Given the description of an element on the screen output the (x, y) to click on. 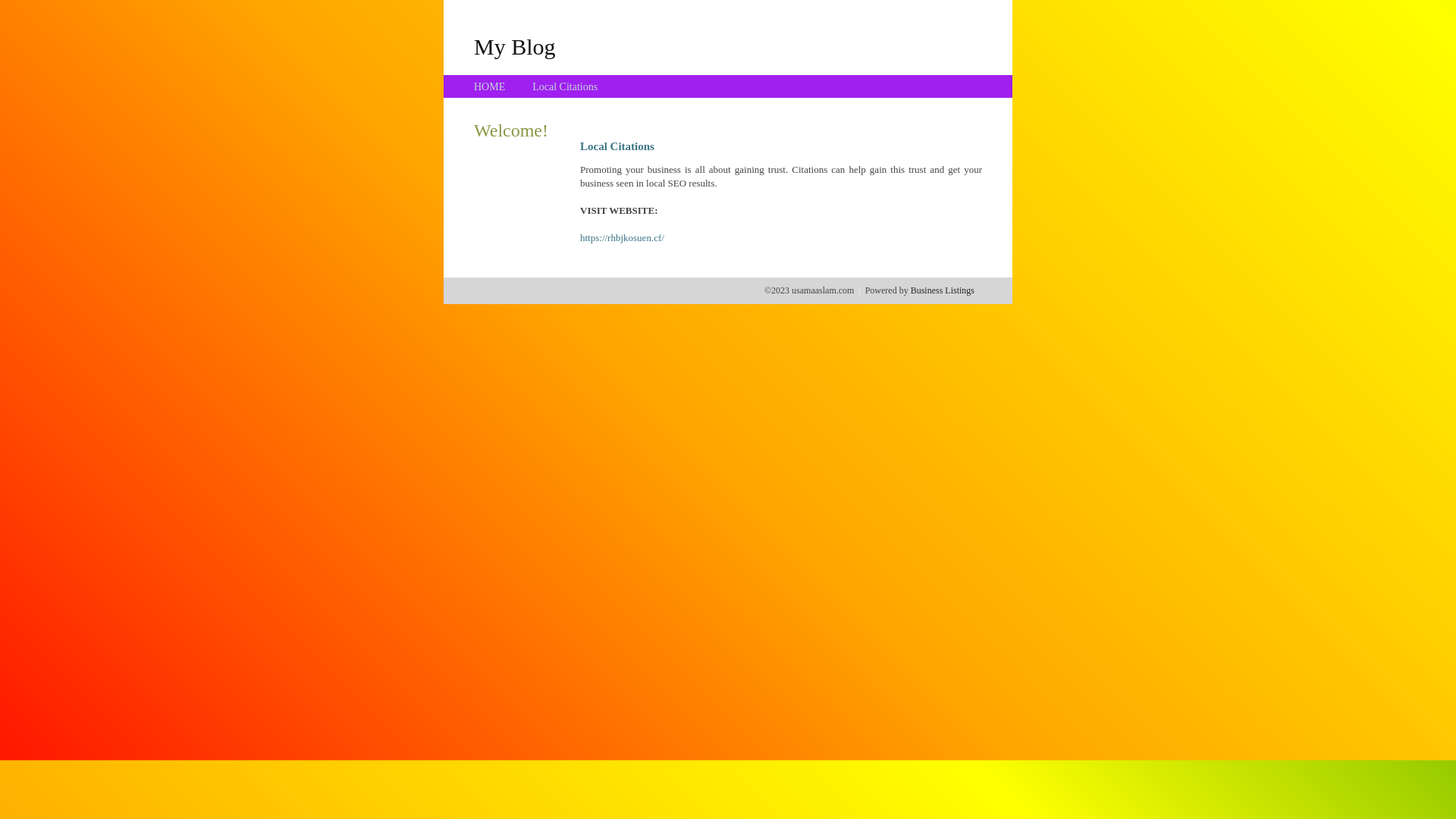
My Blog Element type: text (514, 46)
Local Citations Element type: text (564, 86)
Business Listings Element type: text (942, 290)
HOME Element type: text (489, 86)
https://rhbjkosuen.cf/ Element type: text (622, 237)
